Given the description of an element on the screen output the (x, y) to click on. 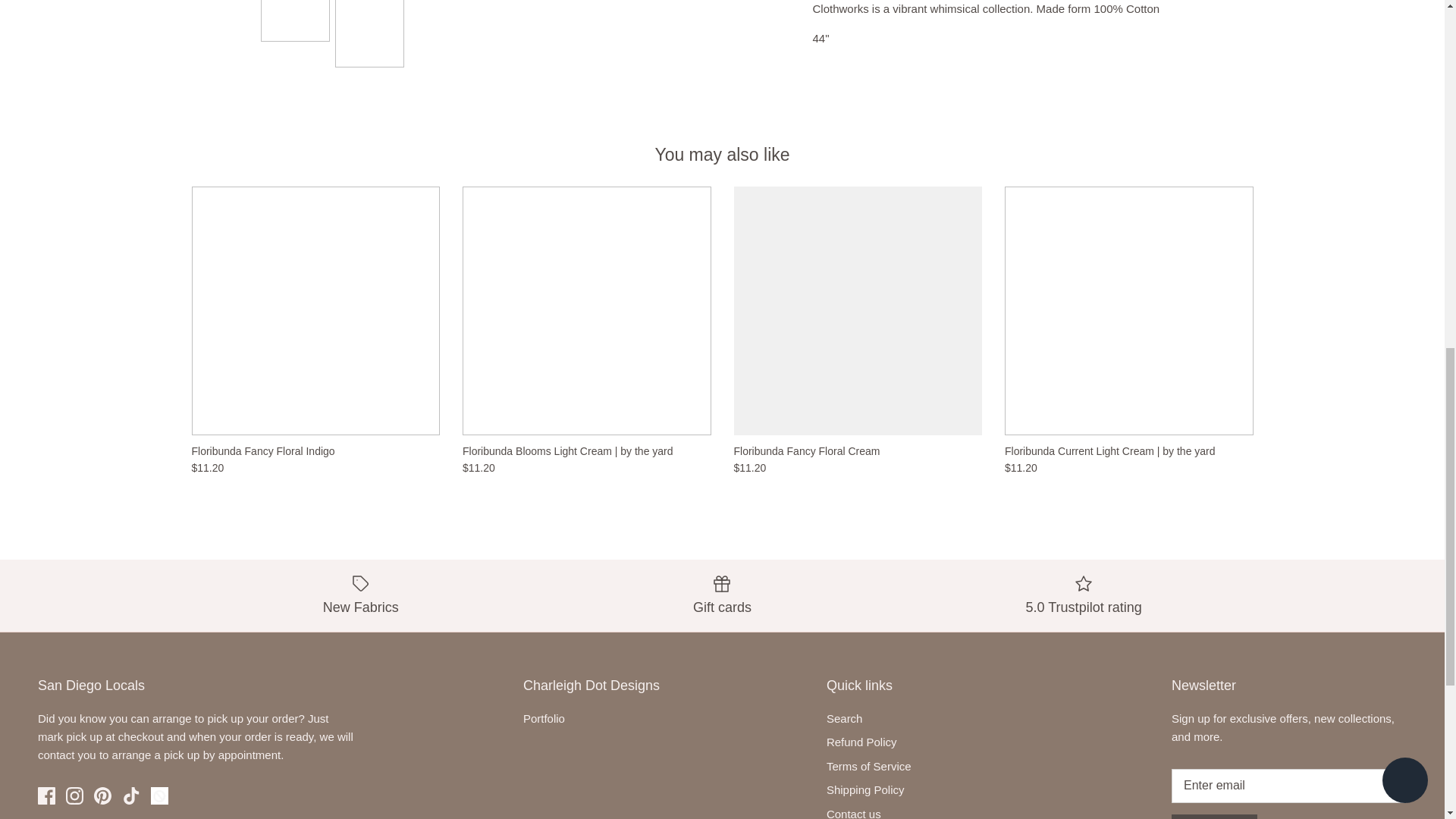
Facebook (46, 795)
Instagram (73, 795)
Pinterest (103, 795)
Label (360, 583)
